Given the description of an element on the screen output the (x, y) to click on. 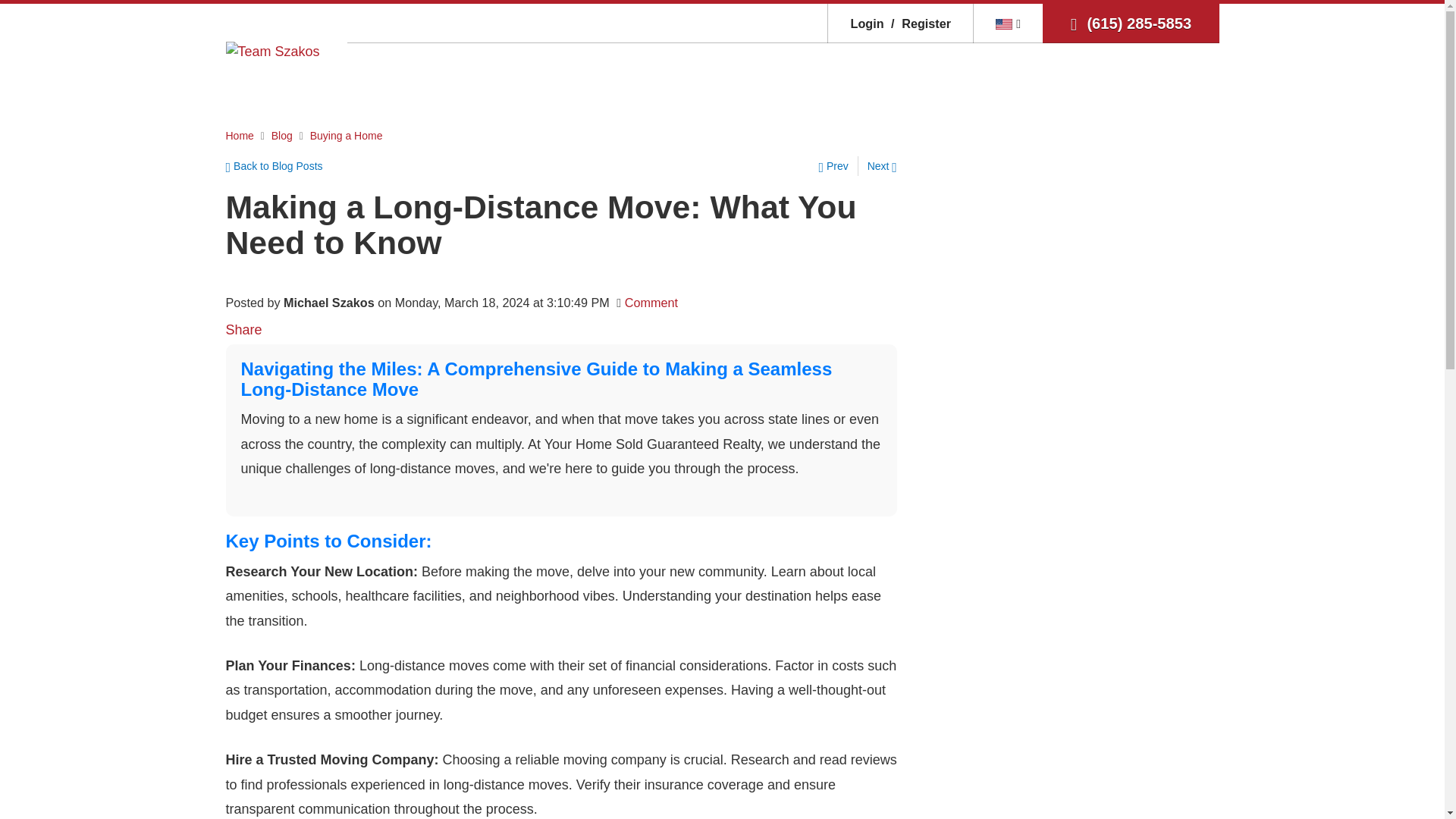
Select Language (1008, 23)
Home Page (272, 50)
Login (866, 23)
Register (918, 23)
